Given the description of an element on the screen output the (x, y) to click on. 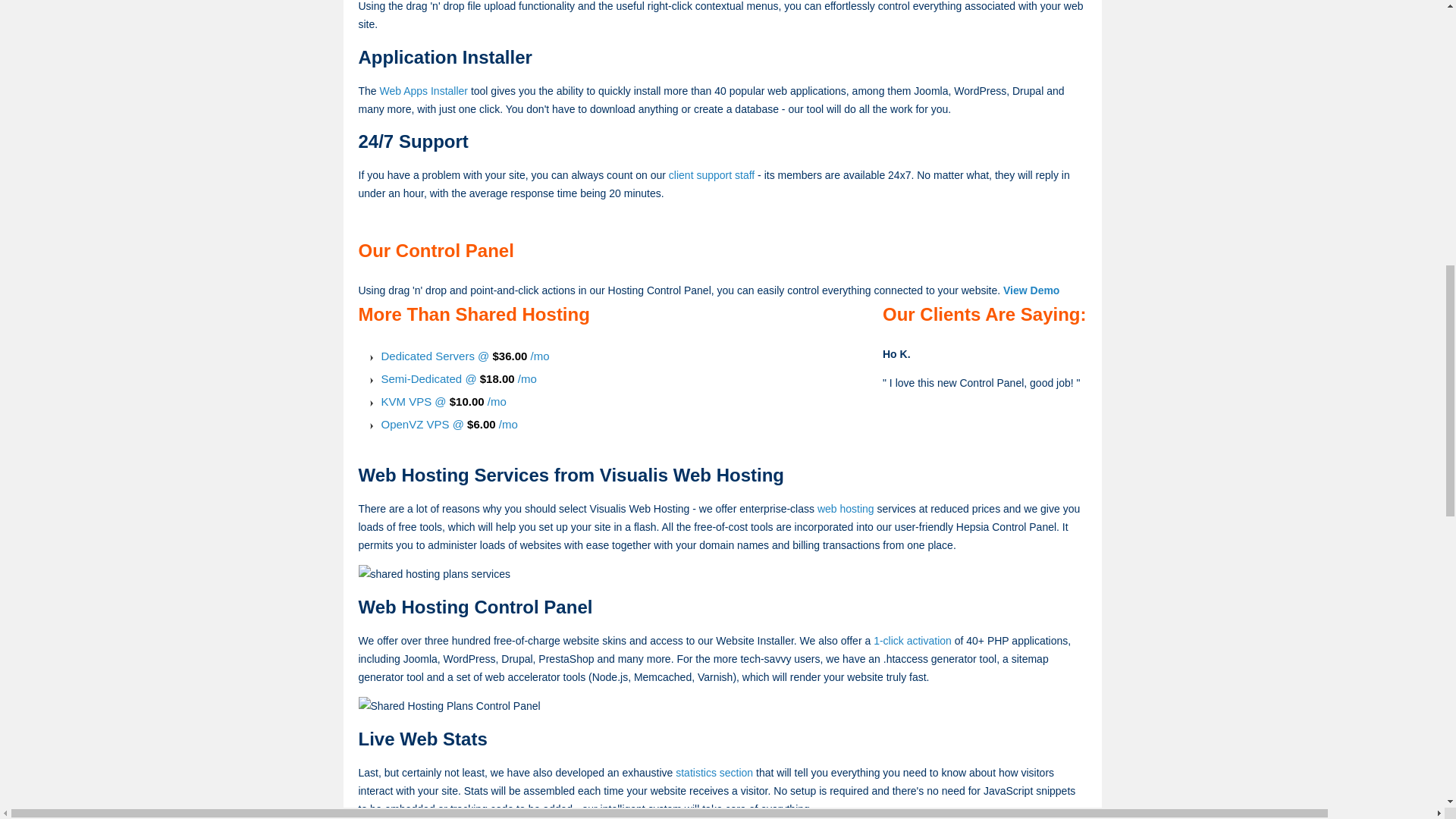
client support staff (711, 174)
shared hosting plans services (433, 574)
Web Apps Installer (423, 91)
View Demo (1031, 290)
1-click activation (912, 640)
web hosting (845, 508)
Shared Hosting Plans Control Panel (449, 705)
statistics section (713, 772)
